Given the description of an element on the screen output the (x, y) to click on. 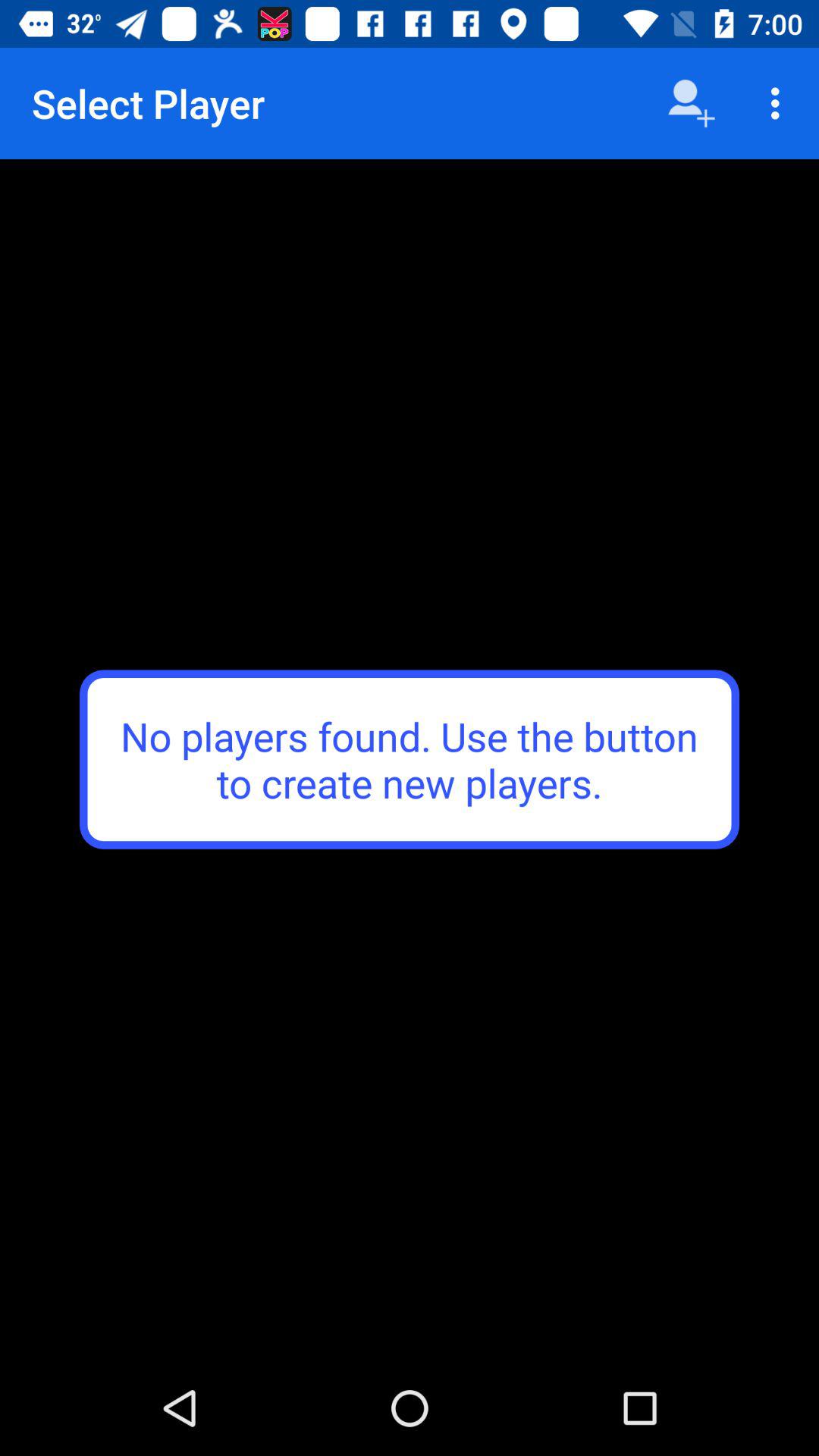
tap icon above no players found app (779, 103)
